Given the description of an element on the screen output the (x, y) to click on. 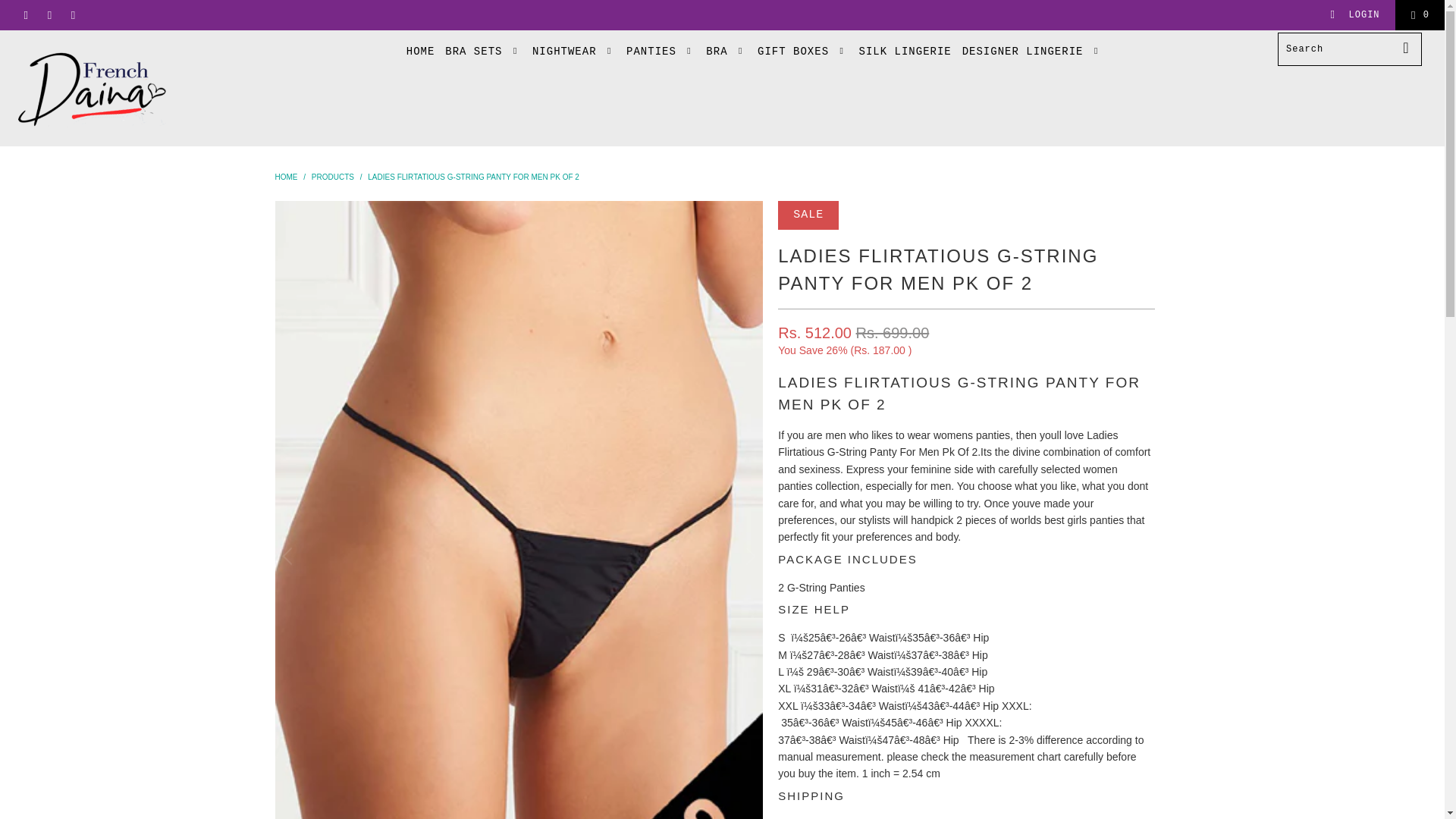
French Daina (286, 176)
French Daina on Tumblr (48, 14)
French Daina (122, 88)
My Account  (1353, 15)
Products (332, 176)
French Daina on Pinterest (25, 14)
French Daina on Instagram (71, 14)
